Given the description of an element on the screen output the (x, y) to click on. 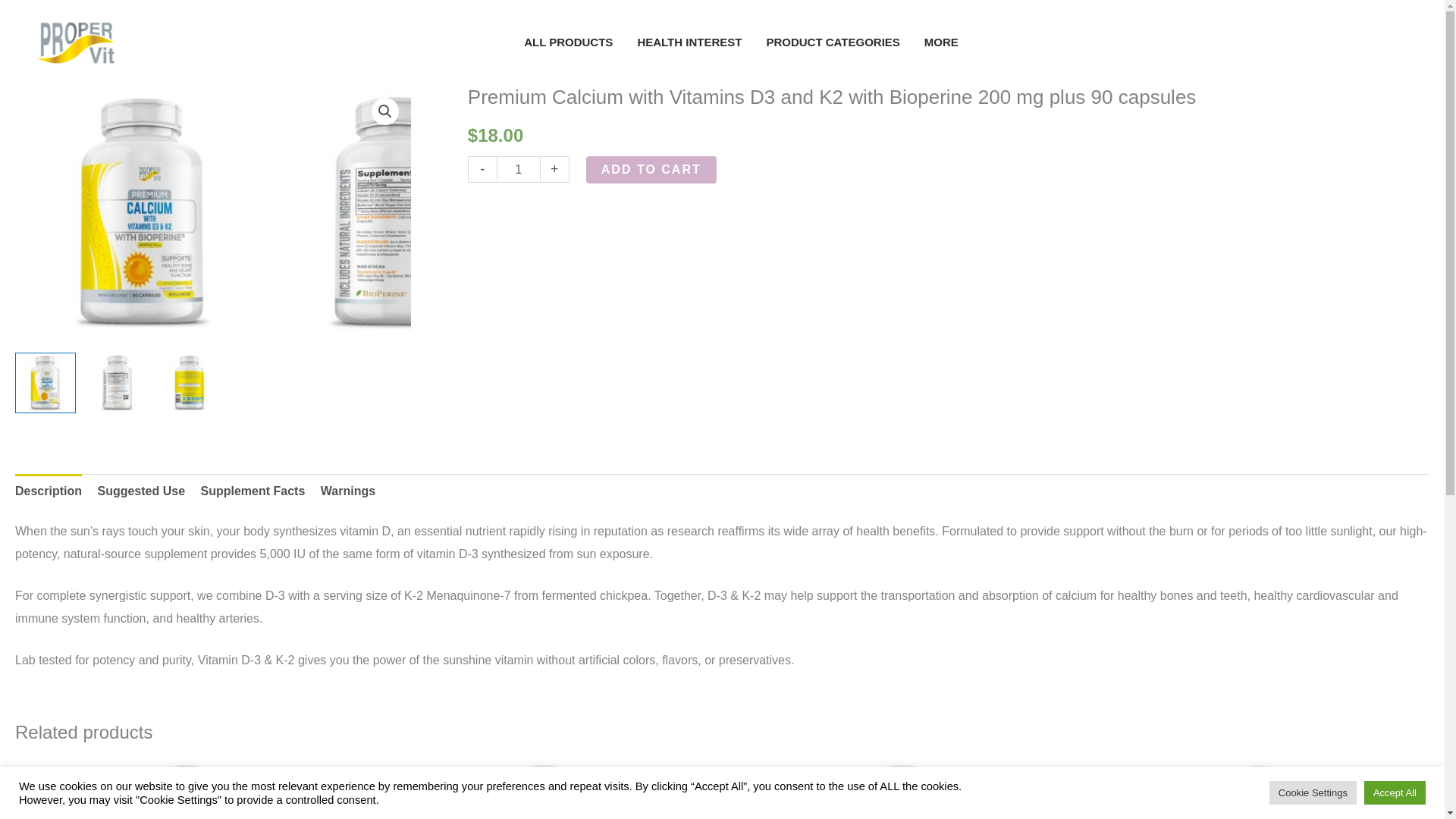
HEALTH INTEREST (689, 42)
ALL PRODUCTS (568, 42)
Calcium D3 K2 Vitamin Suppliments (396, 212)
1 (518, 169)
Calcium Plus D3 K2 (141, 212)
MORE (941, 42)
PRODUCT CATEGORIES (832, 42)
